Given the description of an element on the screen output the (x, y) to click on. 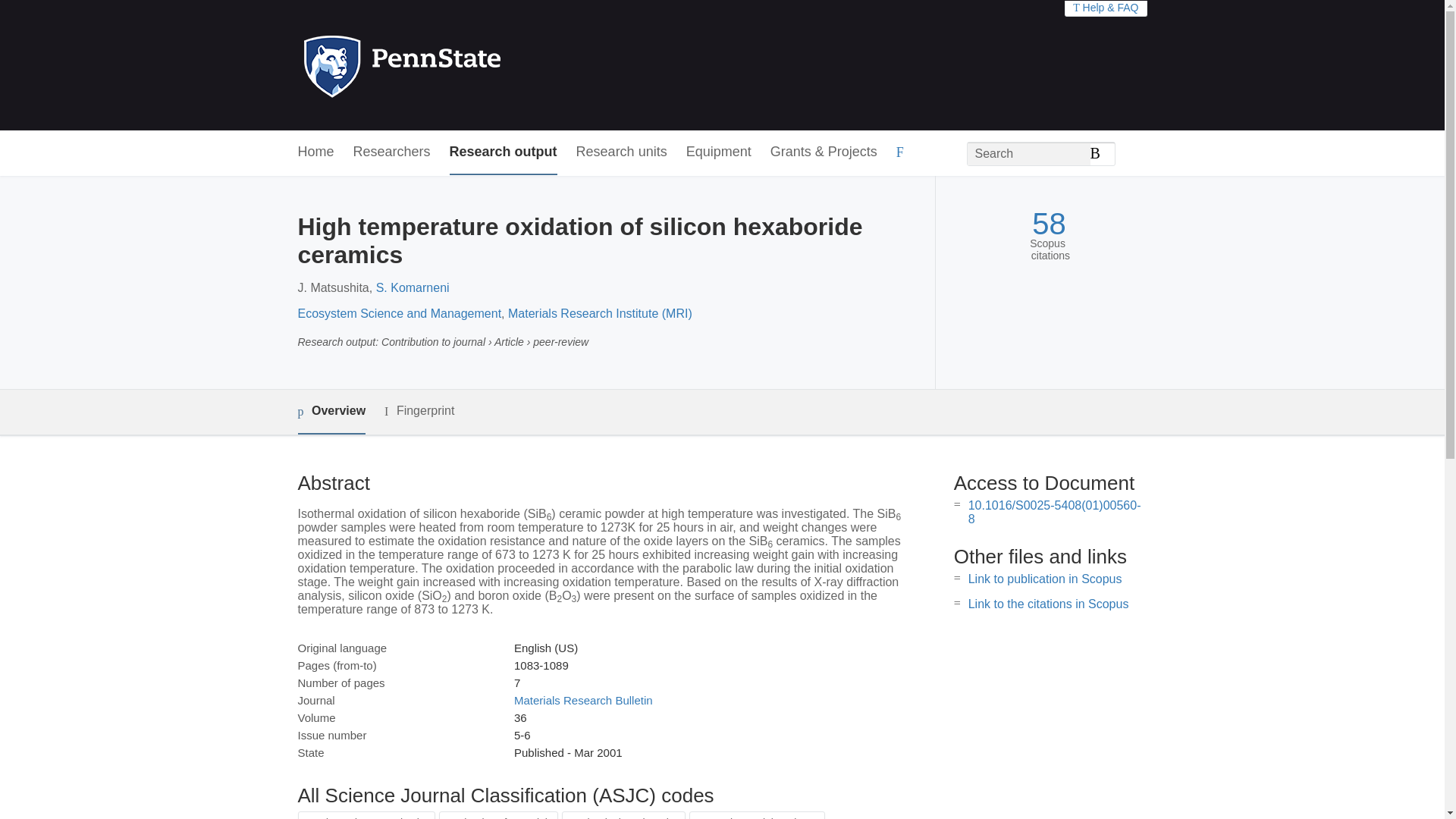
Link to the citations in Scopus (1048, 603)
Penn State Home (467, 65)
Fingerprint (419, 411)
Research units (621, 152)
Materials Research Bulletin (582, 699)
Ecosystem Science and Management (398, 313)
Research output (503, 152)
S. Komarneni (412, 287)
Equipment (718, 152)
58 (1048, 223)
Overview (331, 411)
Home (315, 152)
Link to publication in Scopus (1045, 578)
Researchers (391, 152)
